Given the description of an element on the screen output the (x, y) to click on. 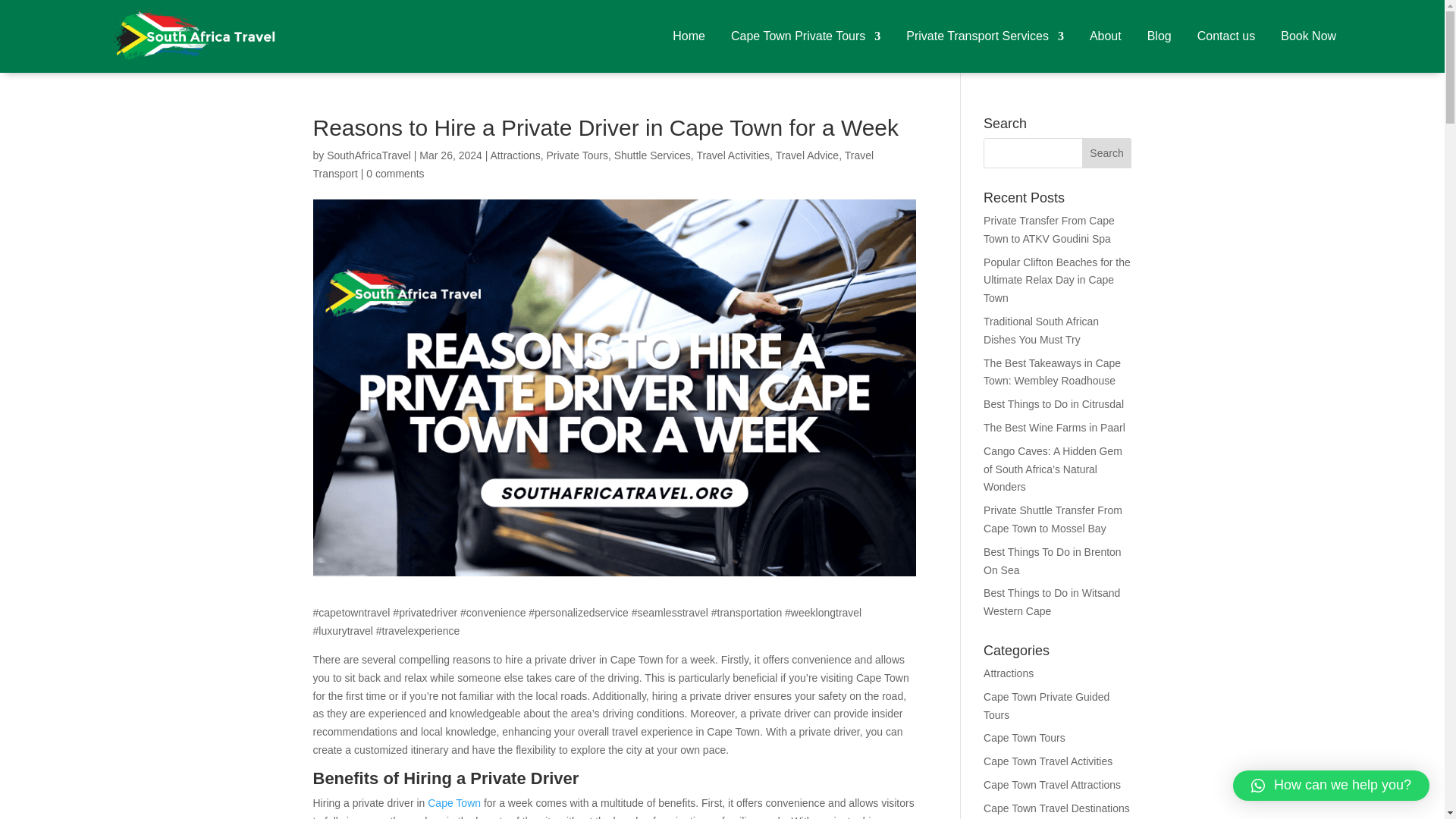
Search (1106, 153)
Travel Advice (808, 155)
SouthAfricaTravel (368, 155)
Shuttle Services (652, 155)
Private Tours (576, 155)
0 comments (394, 173)
Attractions (515, 155)
Cape Town (454, 802)
Cape Town Private Tours (805, 36)
Private Transport Services (984, 36)
